Given the description of an element on the screen output the (x, y) to click on. 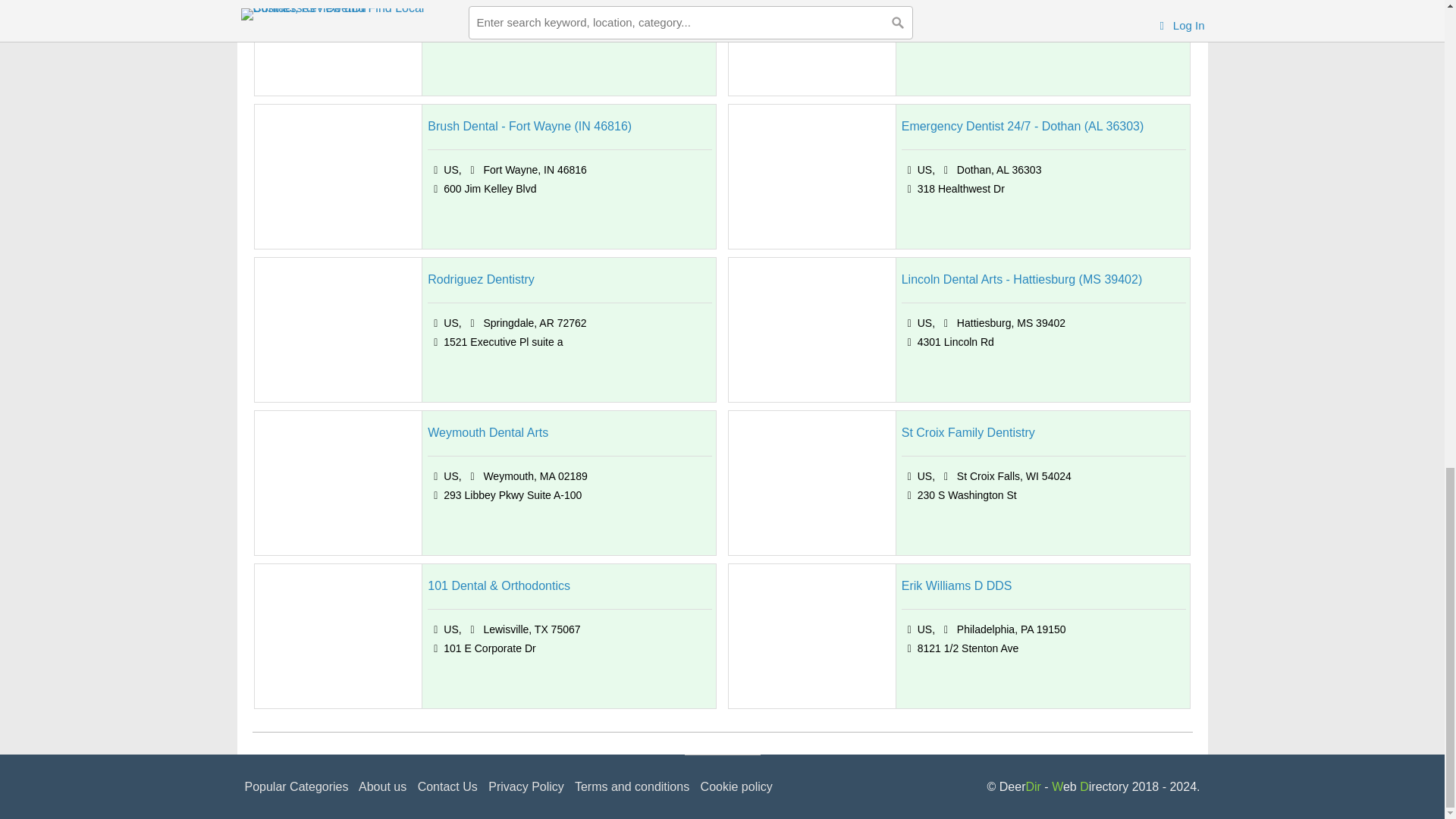
Terms and conditions (631, 786)
Contact Us (447, 786)
Rodriguez Dentistry (481, 279)
Privacy Policy (525, 786)
About us (382, 786)
Weymouth Dental Arts (488, 433)
Cookie policy (736, 786)
Erik Williams D DDS (956, 586)
St Croix Family Dentistry (968, 433)
Popular Categories (295, 786)
